Given the description of an element on the screen output the (x, y) to click on. 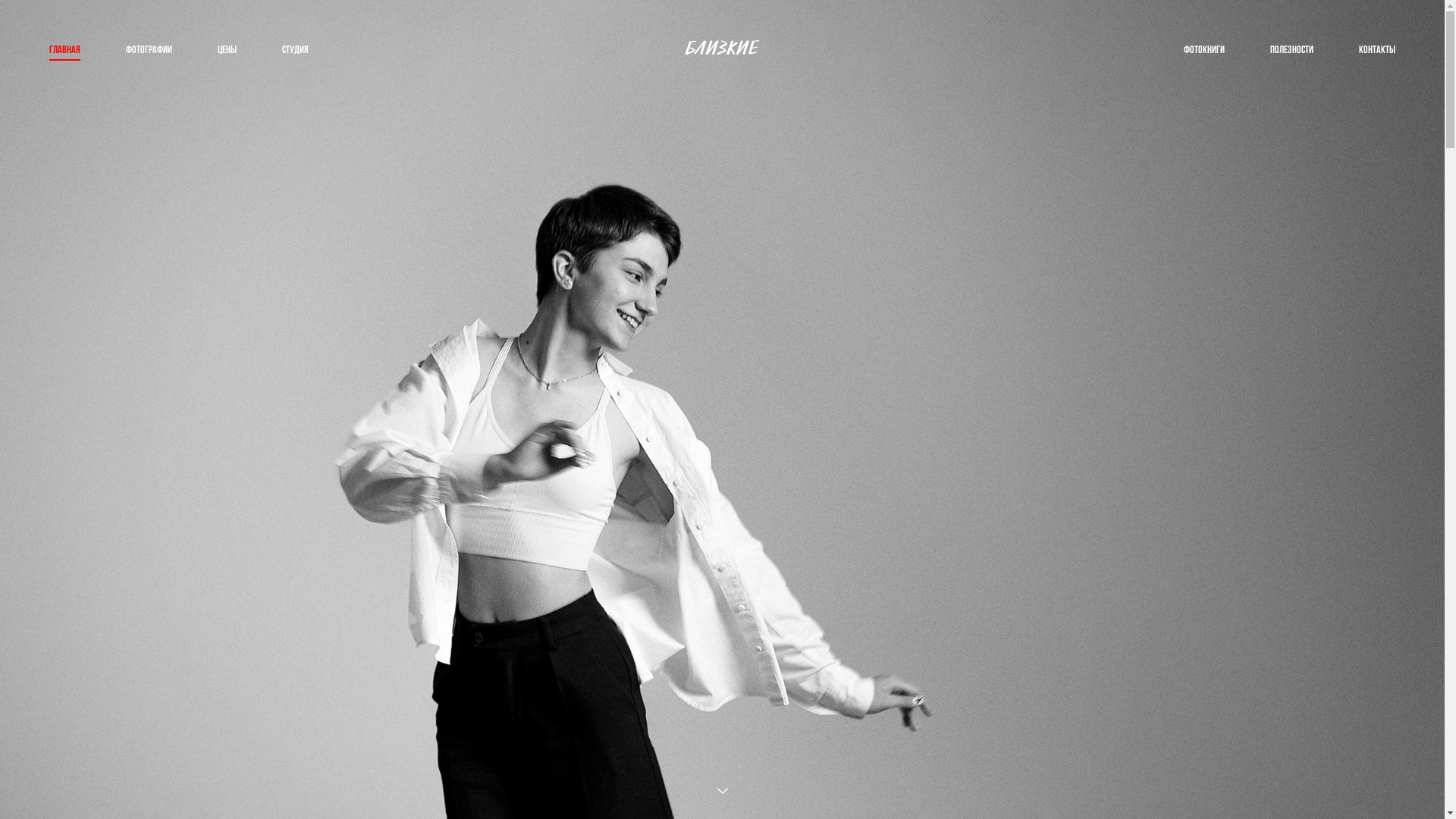
logo_nisunova Element type: hover (722, 49)
